Given the description of an element on the screen output the (x, y) to click on. 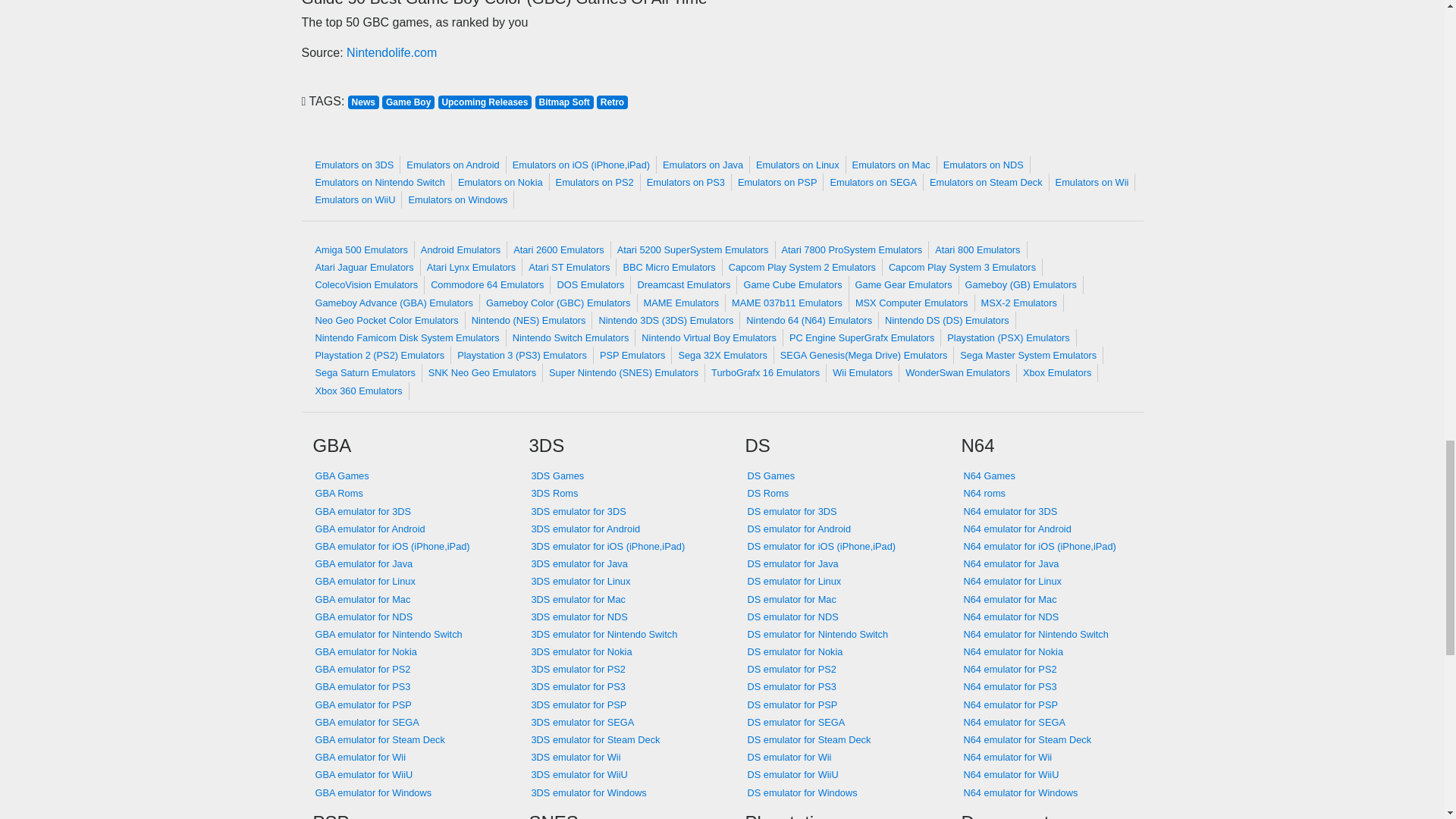
Emulators on Mac (891, 164)
Game Boy (409, 101)
News (364, 101)
Emulators on Linux (797, 164)
Nintendolife.com (391, 51)
Emulators on 3DS (354, 164)
Emulators on Nokia (500, 181)
Emulators on NDS (983, 164)
Emulators on Nintendo Switch (379, 181)
Retro (611, 101)
